Given the description of an element on the screen output the (x, y) to click on. 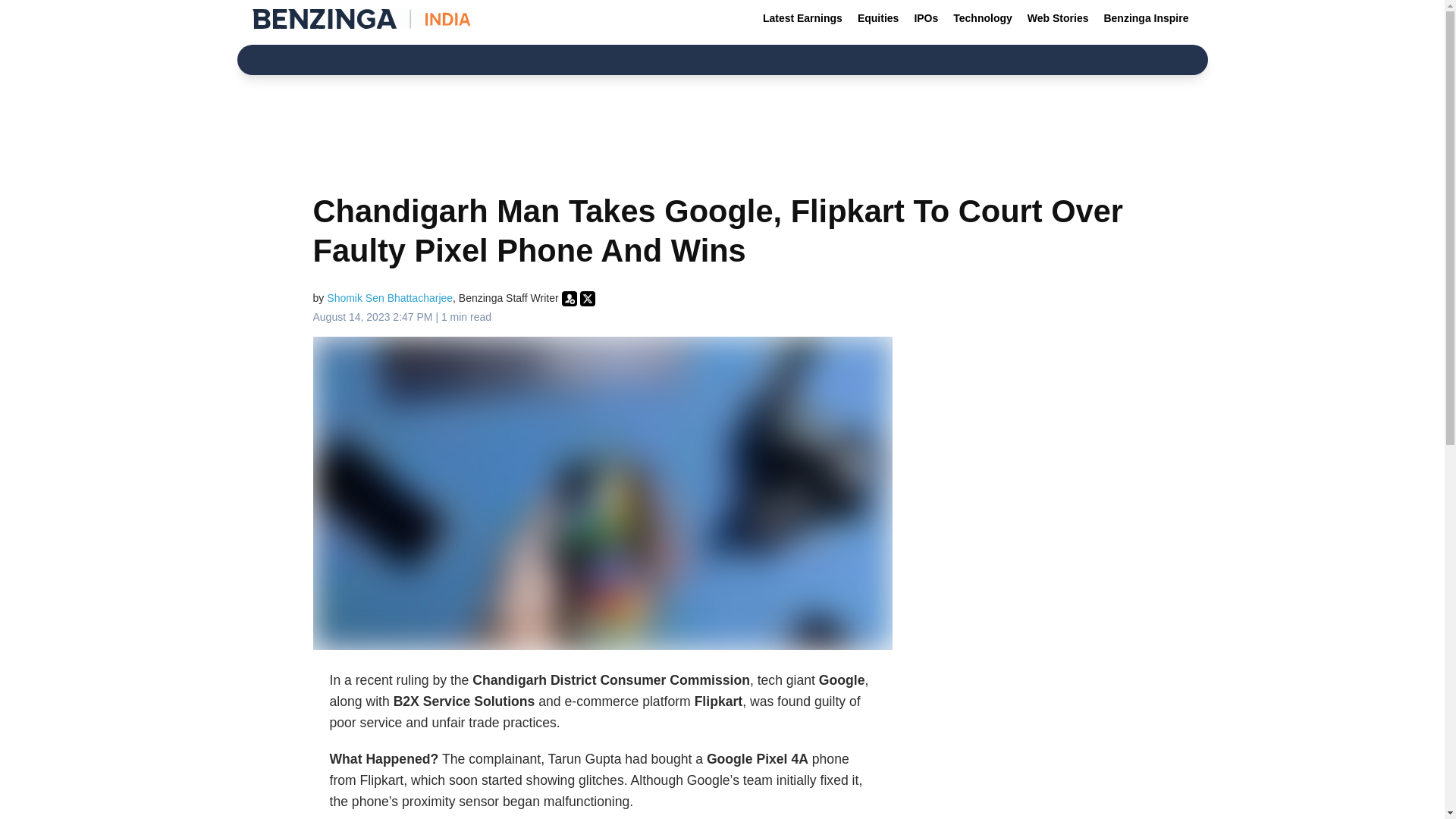
Technology (982, 18)
Benzinga Inspire (1145, 18)
Web Stories (1058, 18)
Web Stories (1058, 18)
Equities (877, 18)
IPOs (924, 18)
Shomik Sen Bhattacharjee (389, 297)
Equities (877, 18)
Technology (982, 18)
